Given the description of an element on the screen output the (x, y) to click on. 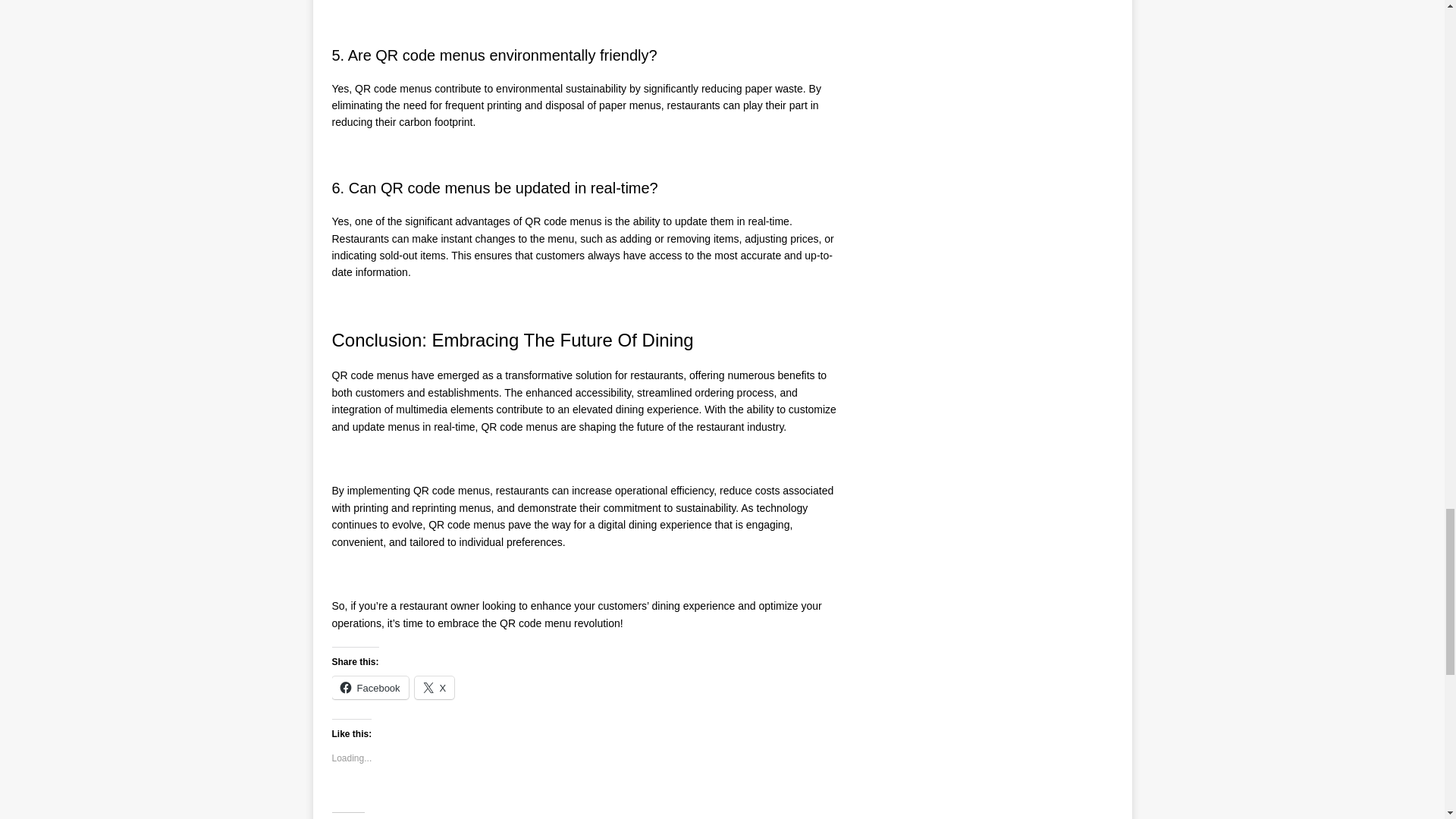
X (434, 687)
Click to share on X (434, 687)
Facebook (370, 687)
Click to share on Facebook (370, 687)
